Given the description of an element on the screen output the (x, y) to click on. 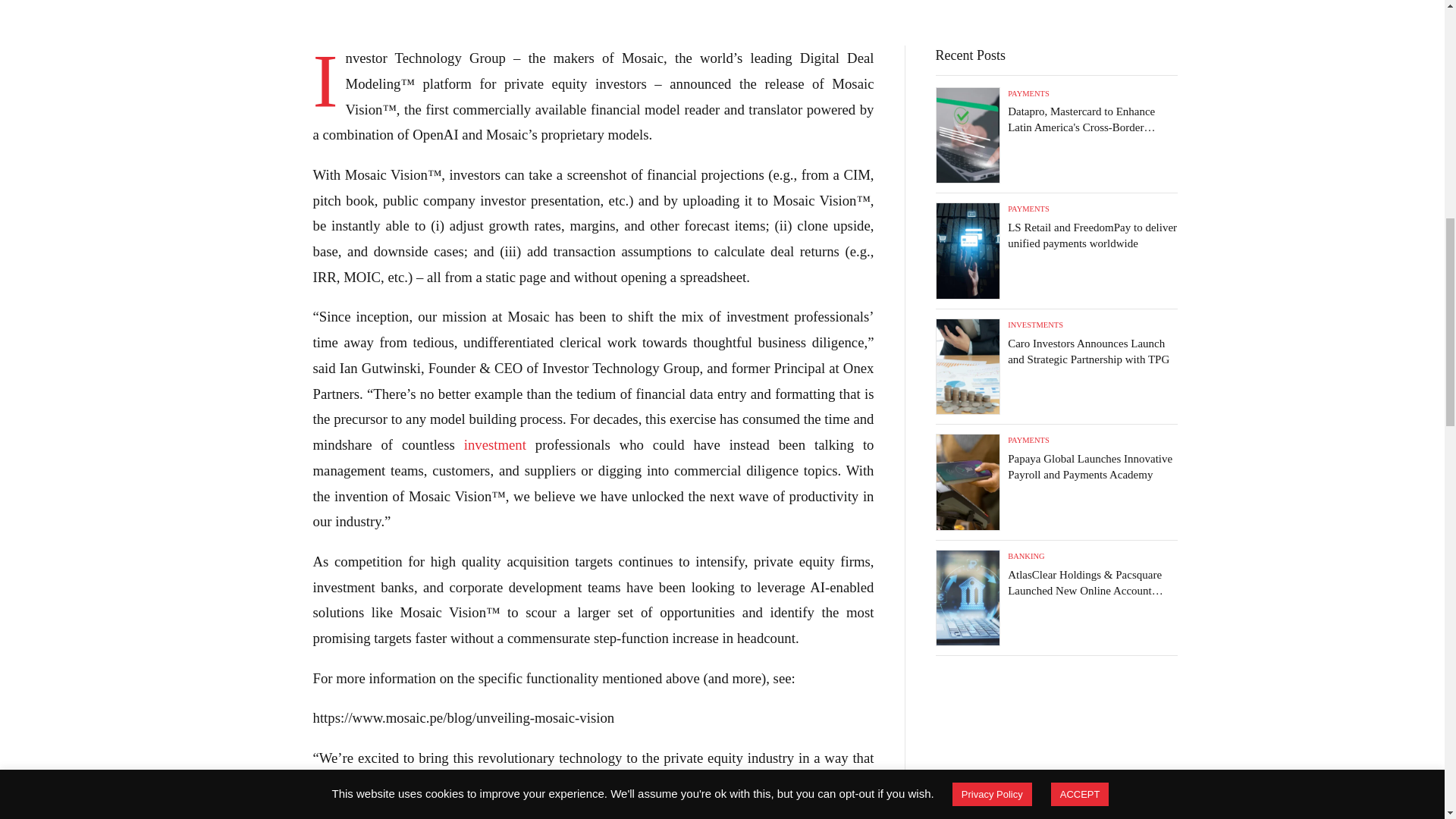
investment (494, 444)
